Given the description of an element on the screen output the (x, y) to click on. 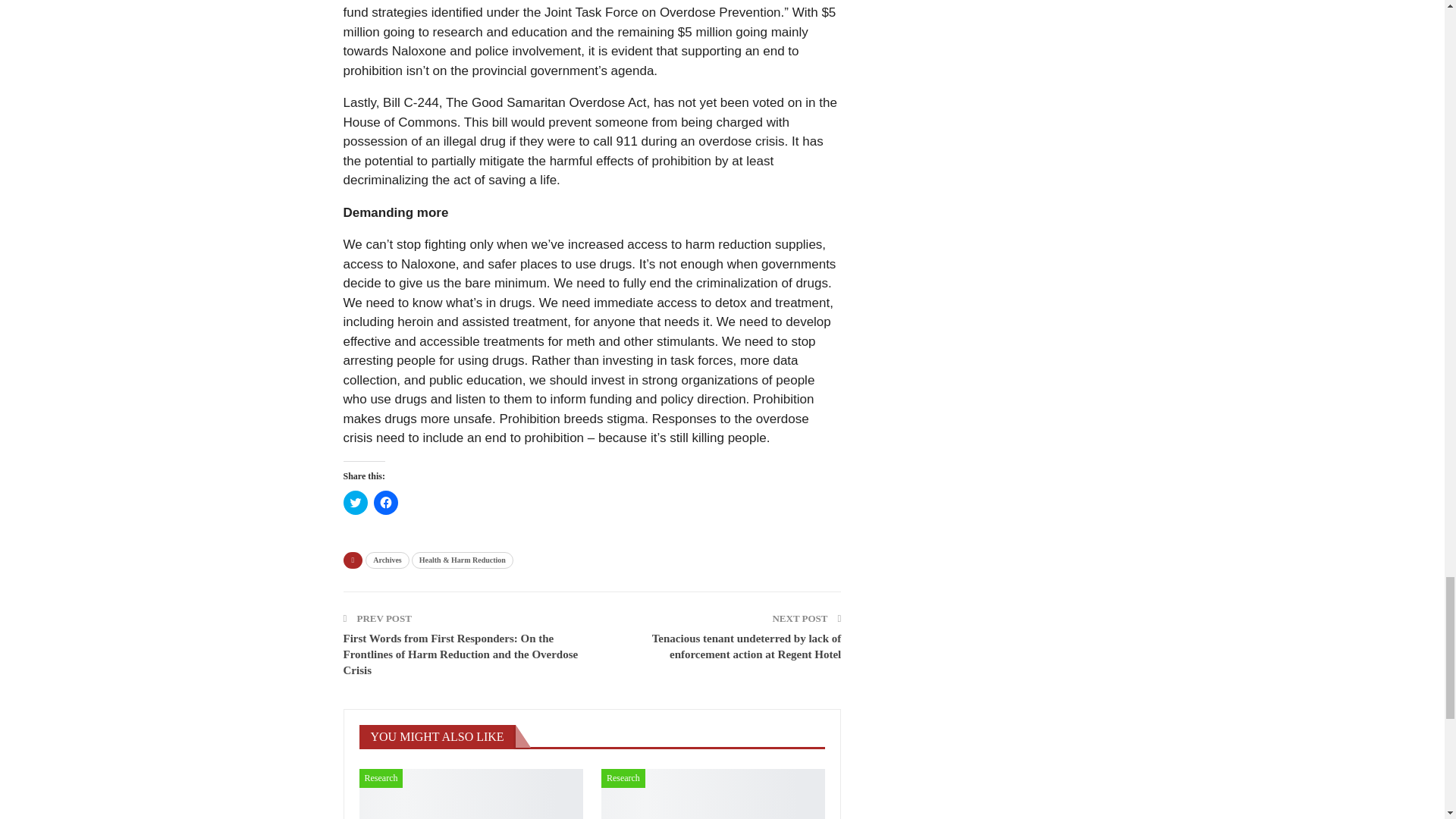
Research (381, 778)
Research (623, 778)
Click to share on Twitter (354, 502)
Click to share on Facebook (384, 502)
Archives (387, 560)
